Given the description of an element on the screen output the (x, y) to click on. 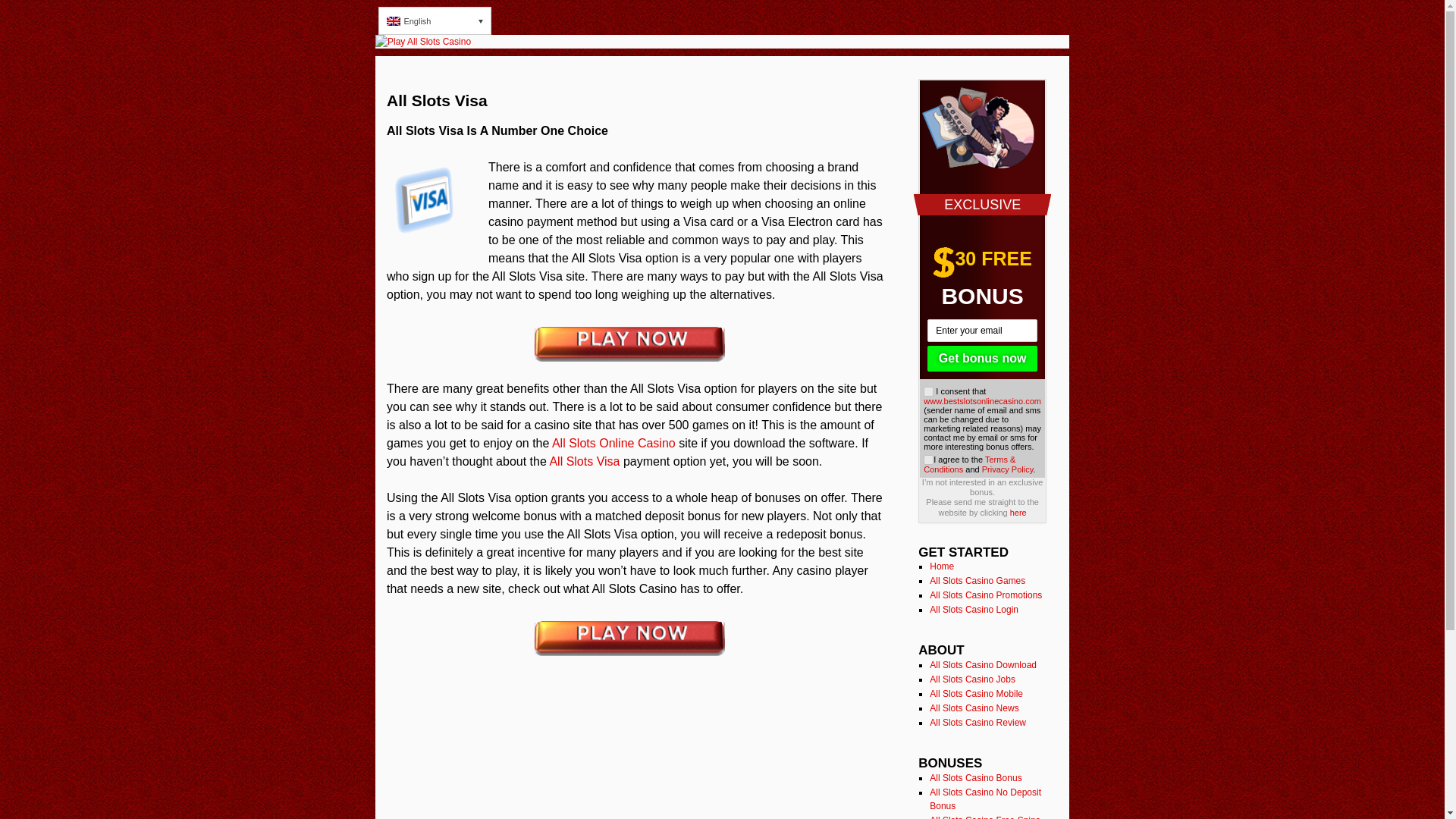
All Slots Casino News (973, 707)
All Slots Casino Mobile (976, 693)
Privacy Policy (1007, 469)
All Slots Online Casino (613, 442)
All Slots Casino Jobs (972, 679)
on (928, 391)
All Slots Casino No Deposit Bonus (985, 799)
All Slots Casino Review (978, 722)
All Slots Online Casino (613, 442)
Get bonus now (981, 358)
Get bonus now (981, 358)
All Slots Casino Bonus (976, 777)
All Slots Casino Free Spins (984, 816)
www.bestslotsonlinecasino.com (982, 400)
All Slots Visa (584, 461)
